Given the description of an element on the screen output the (x, y) to click on. 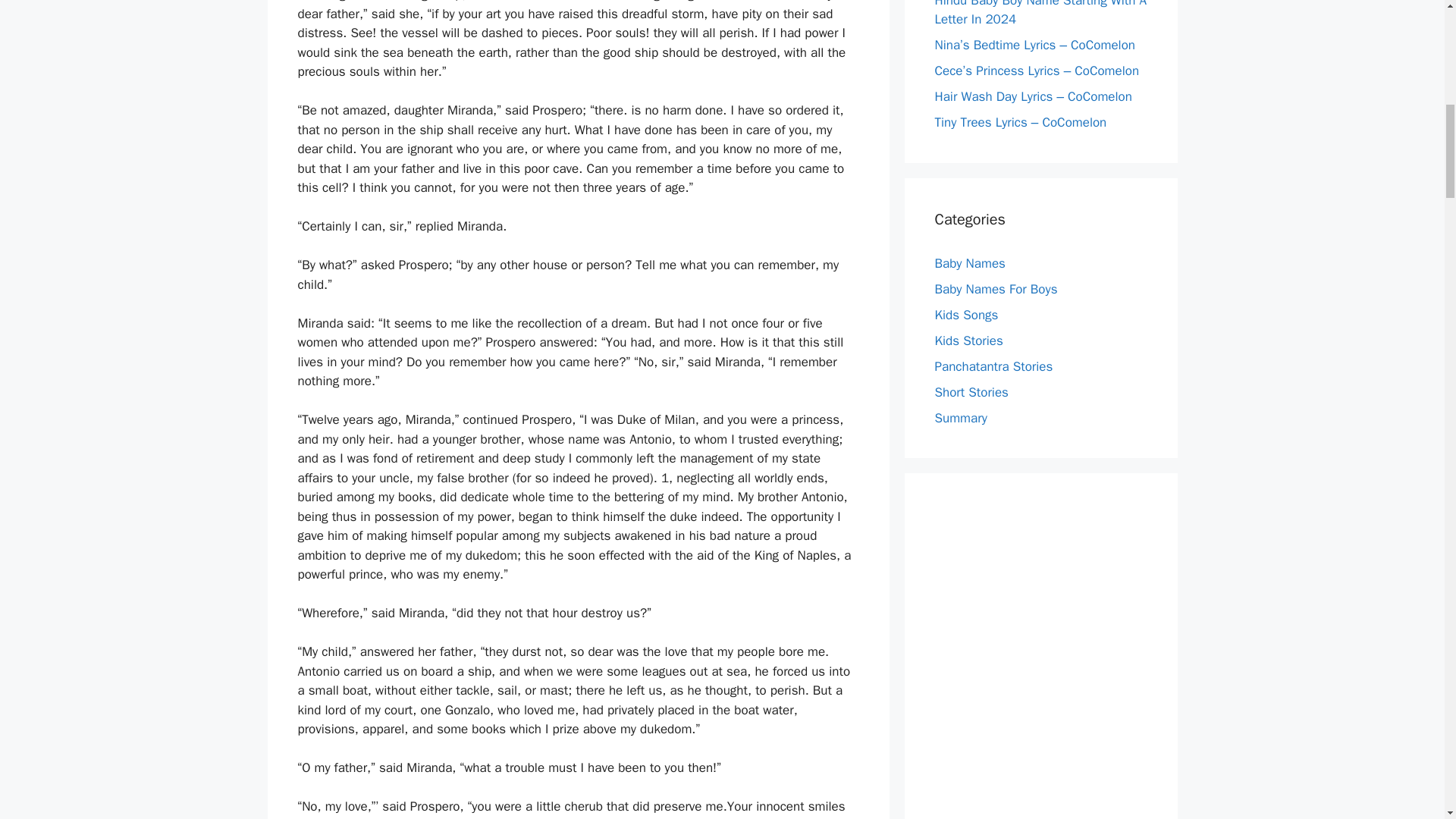
Kids Songs (965, 314)
Short Stories (970, 391)
Baby Names For Boys (995, 288)
Hindu Baby Boy Name Starting With A Letter In 2024 (1039, 13)
Panchatantra Stories (993, 365)
Kids Stories (968, 340)
Summary (960, 417)
Baby Names (969, 262)
